Given the description of an element on the screen output the (x, y) to click on. 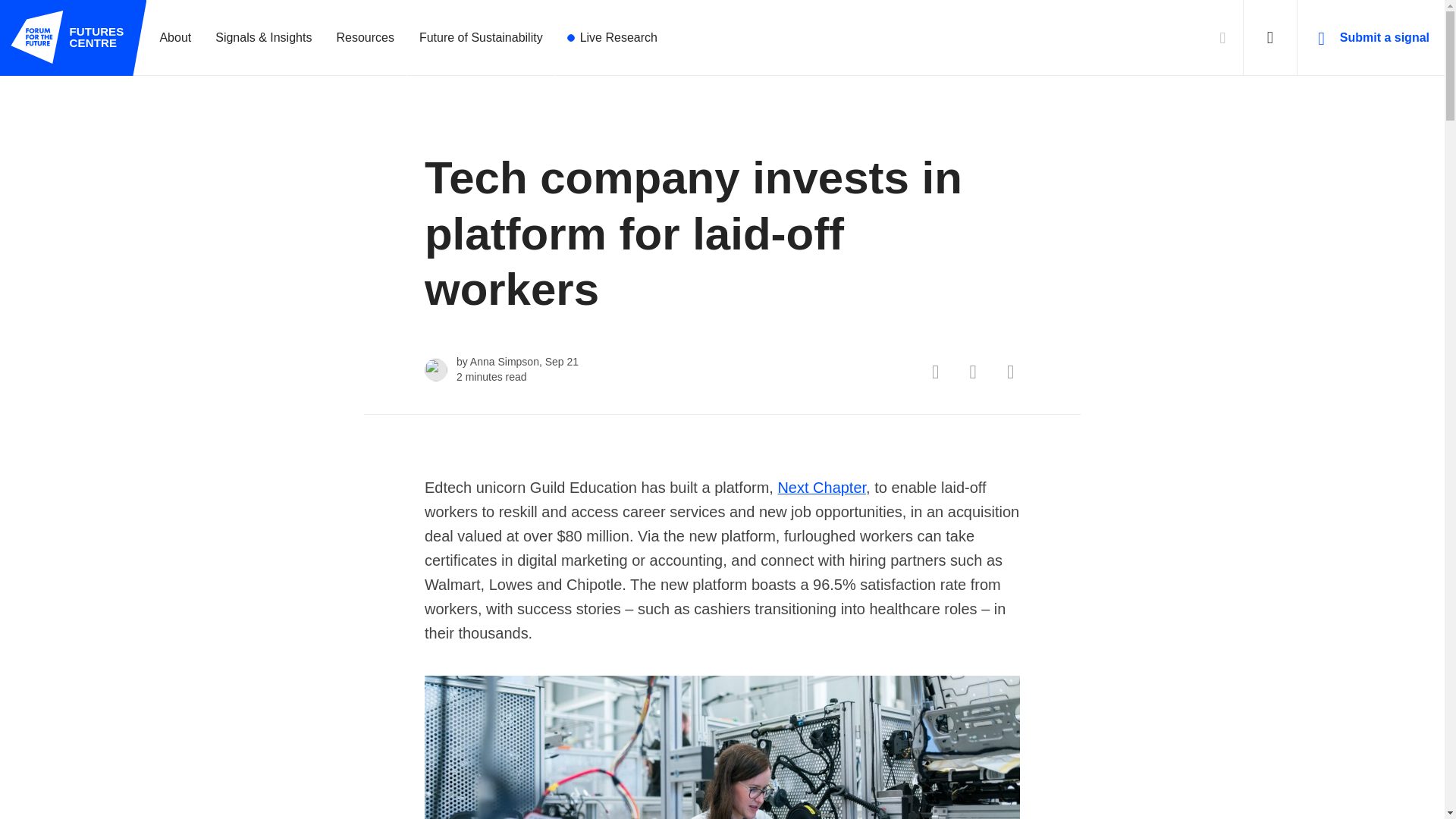
Live Research (612, 38)
Resources (66, 36)
Next Chapter (364, 38)
Future of Sustainability (821, 487)
